Given the description of an element on the screen output the (x, y) to click on. 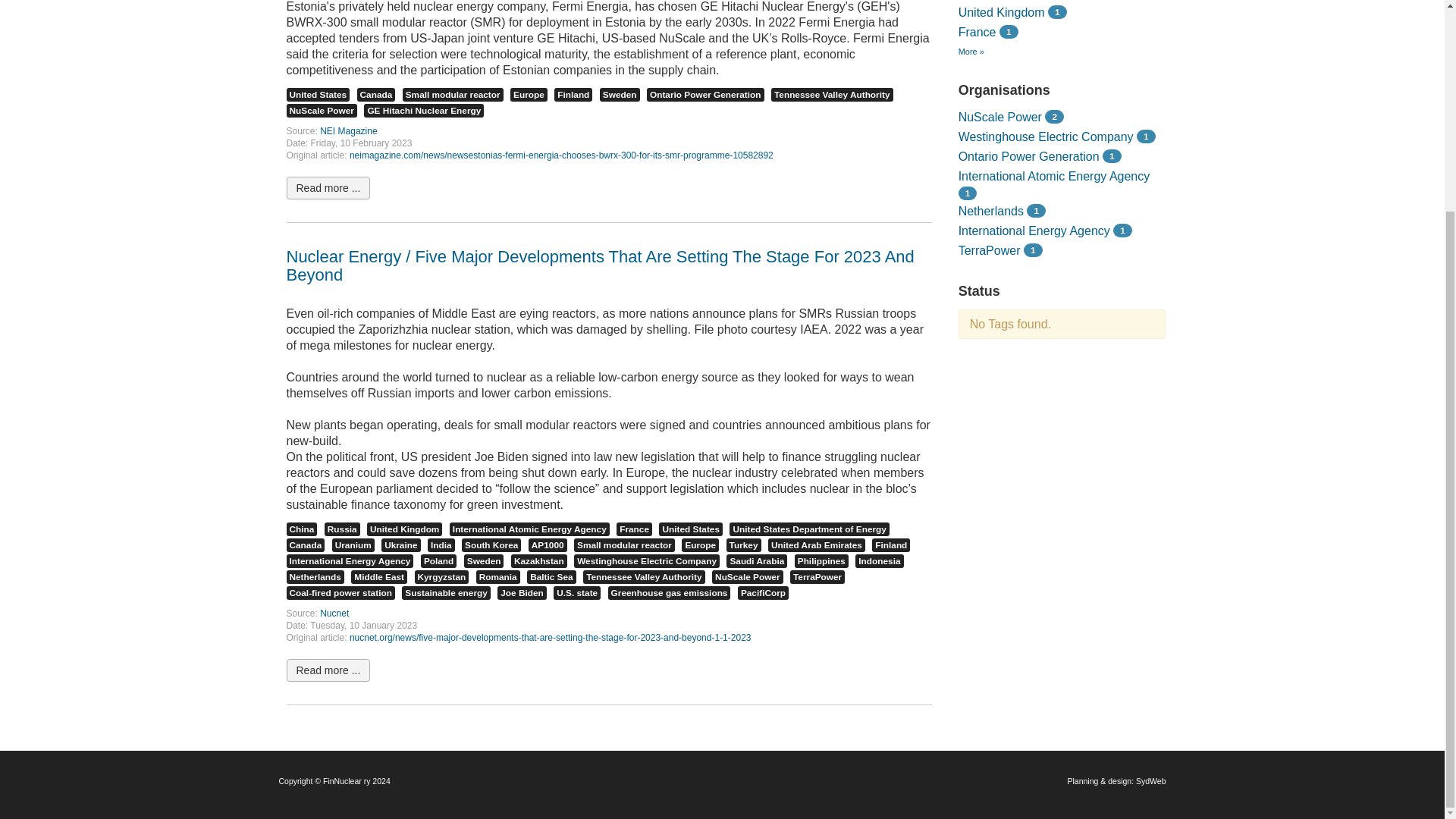
Ukraine (400, 545)
Europe (529, 94)
China (301, 529)
Small modular reactor (624, 545)
NuScale Power (321, 110)
United States (318, 94)
United States Department of Energy (808, 529)
NEI Magazine (348, 131)
Russia (341, 529)
GE Hitachi Nuclear Energy (423, 110)
